Given the description of an element on the screen output the (x, y) to click on. 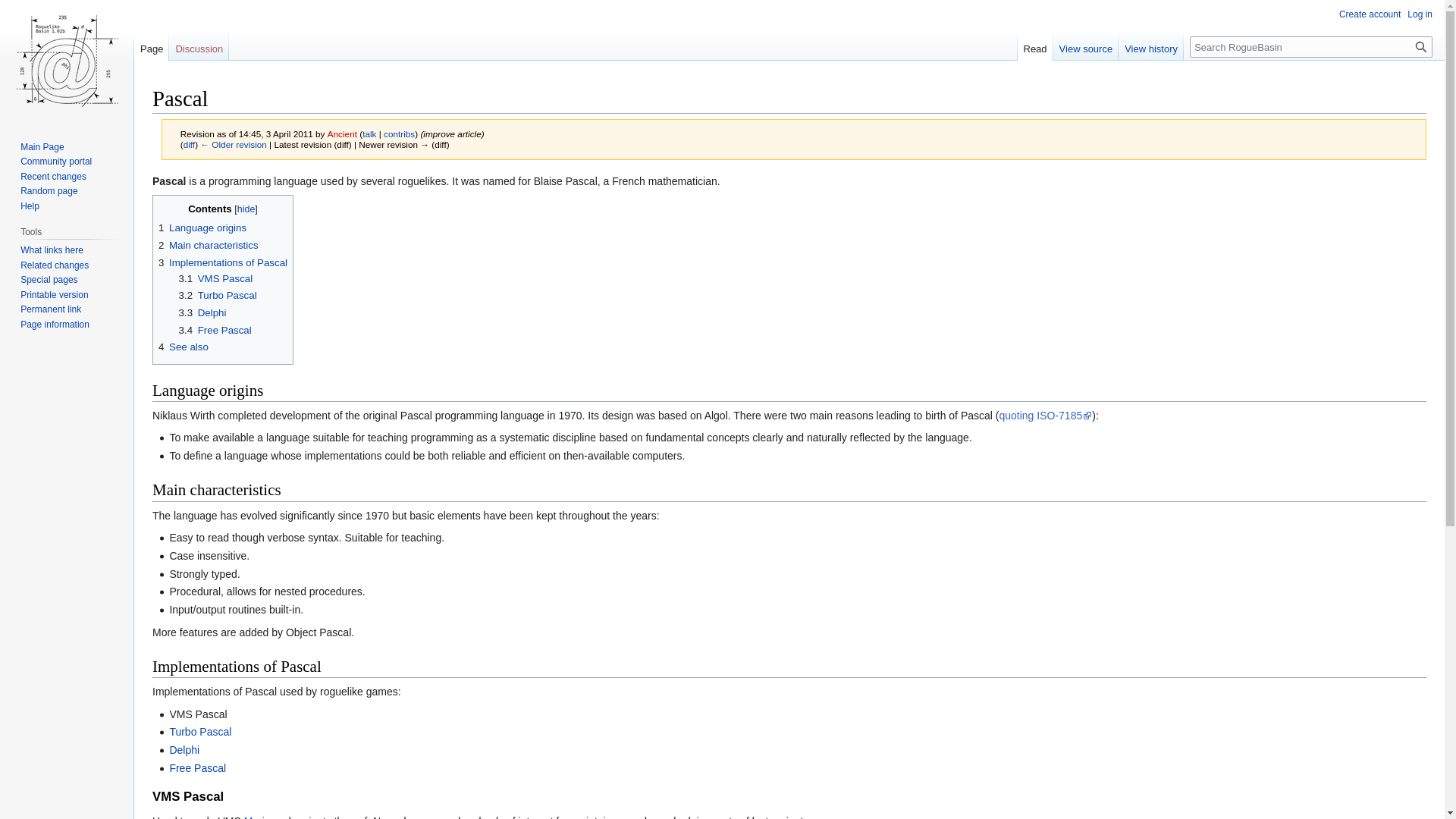
Turbo Pascal (199, 731)
talk (368, 133)
Moria (257, 816)
Discussion (198, 45)
Delphi (183, 749)
3.3 Delphi (203, 312)
Pascal (189, 144)
1 Language origins (202, 227)
Free Pascal (196, 767)
User talk:Ancient (368, 133)
Pascal (233, 144)
View source (1085, 45)
Log in (1419, 14)
Moria (257, 816)
